Given the description of an element on the screen output the (x, y) to click on. 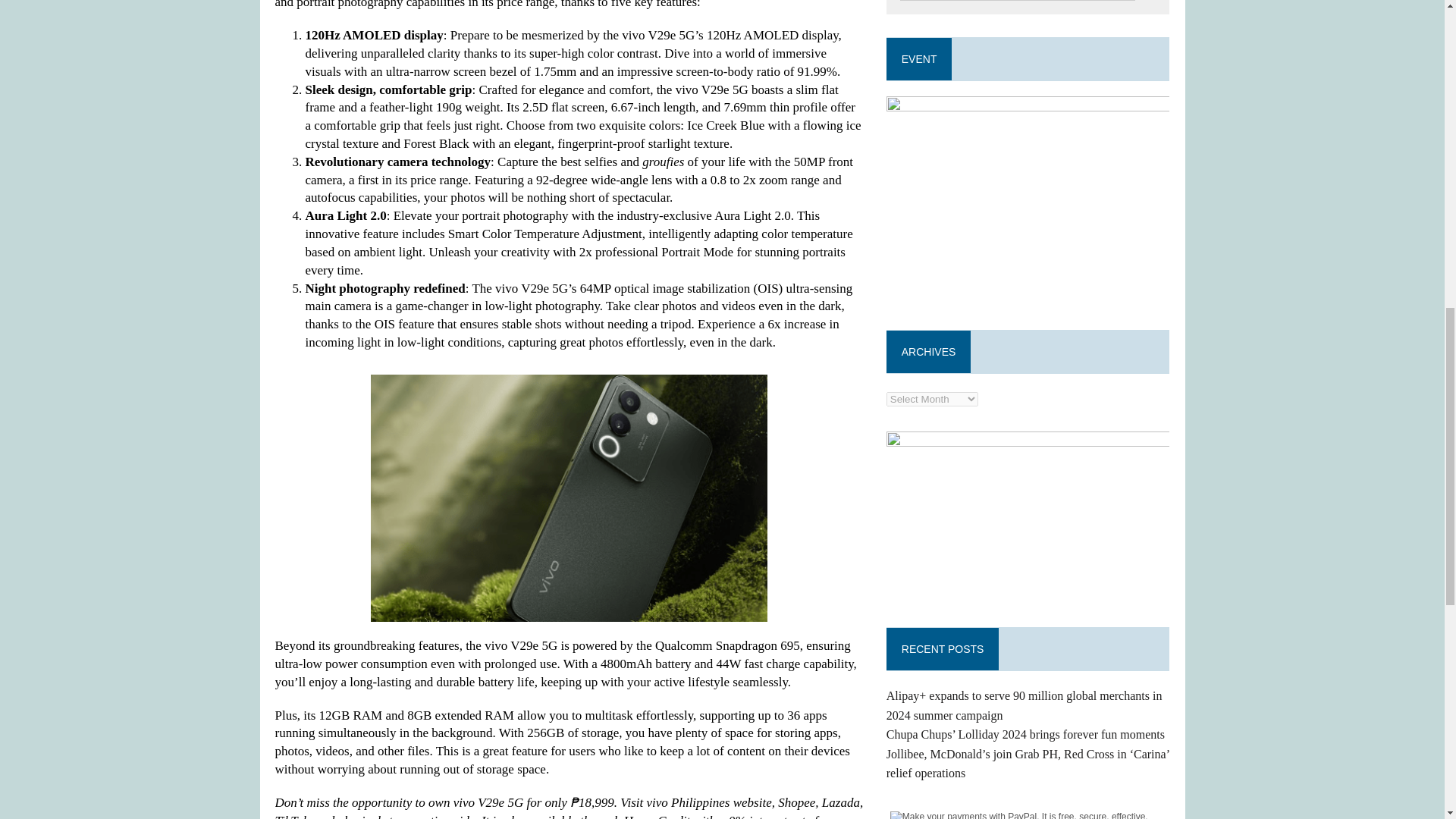
Kaspersky (1028, 517)
Recommended (1028, 201)
